Given the description of an element on the screen output the (x, y) to click on. 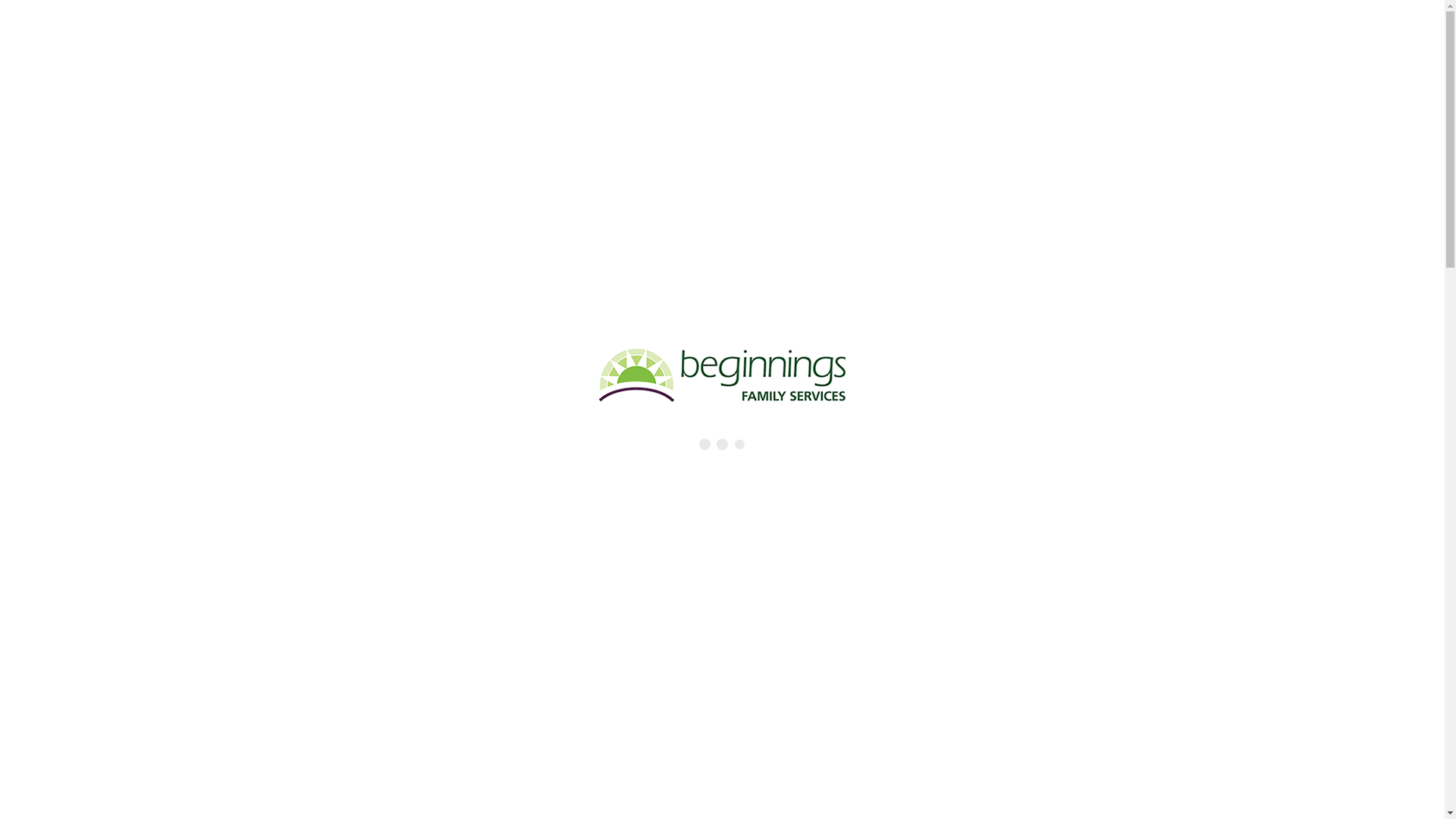
EMBRYO PROGRAM Element type: text (608, 160)
ADOPTION Element type: text (498, 160)
BEGINNINGS Element type: text (405, 160)
Beginnings Family Services Element type: hover (721, 92)
ONLINE PAYMENT Element type: text (440, 22)
Beginnings Family Services Element type: hover (721, 91)
COUNSELLING Element type: text (729, 160)
OUTREACH Element type: text (932, 160)
1.877.528.6665 Element type: text (548, 21)
DONATE TODAY Element type: text (344, 22)
CARE CENTRE Element type: text (836, 160)
CONTACT Element type: text (1109, 160)
FUNDRAISE Element type: text (1023, 160)
HOME Element type: text (324, 160)
info@beginnings.ca Element type: text (787, 21)
